Given the description of an element on the screen output the (x, y) to click on. 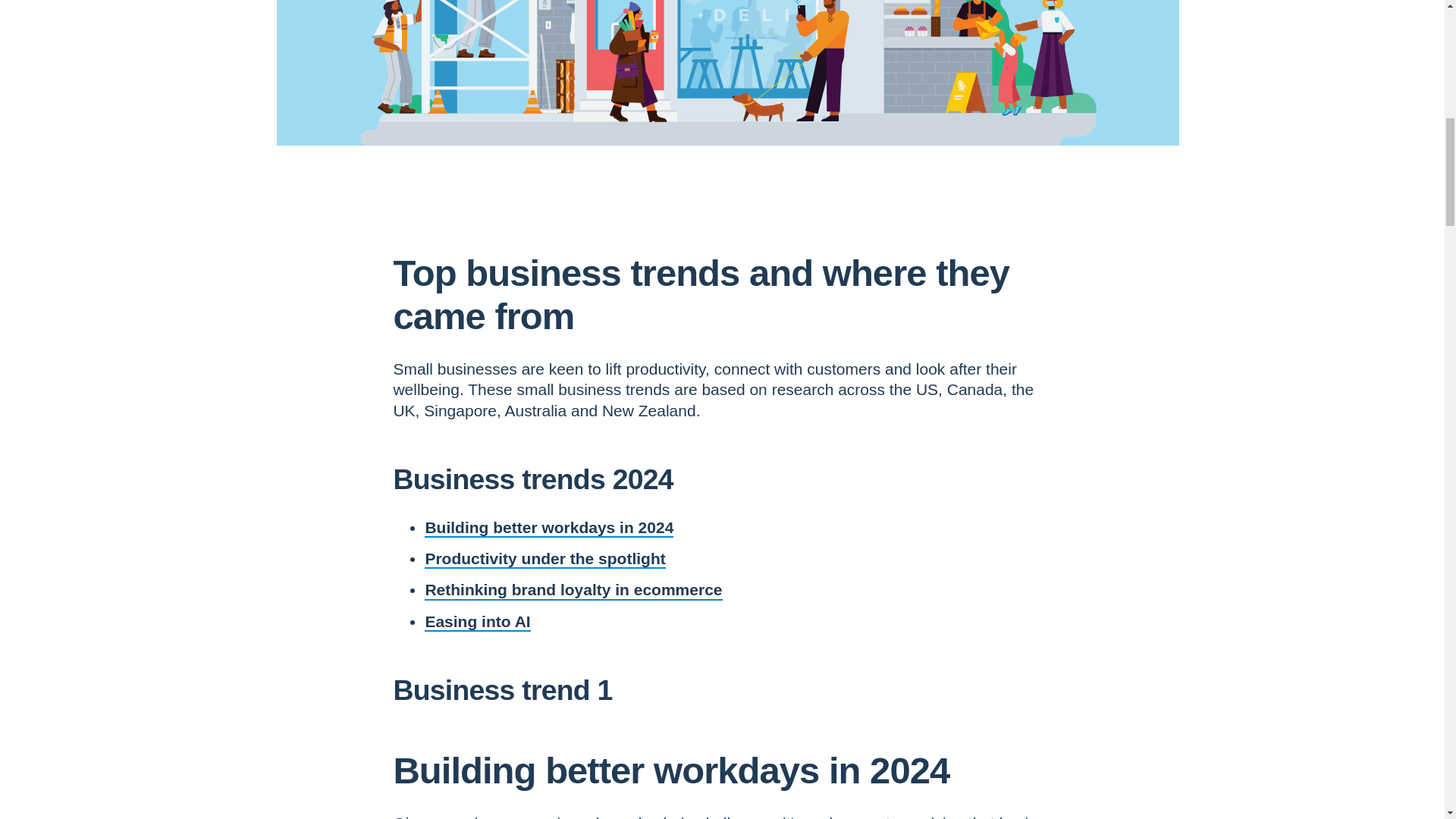
Building better workdays in 2024 (548, 527)
Productivity under the spotlight (545, 558)
Easing into AI (477, 620)
Rethinking brand loyalty in ecommerce (573, 589)
